Given the description of an element on the screen output the (x, y) to click on. 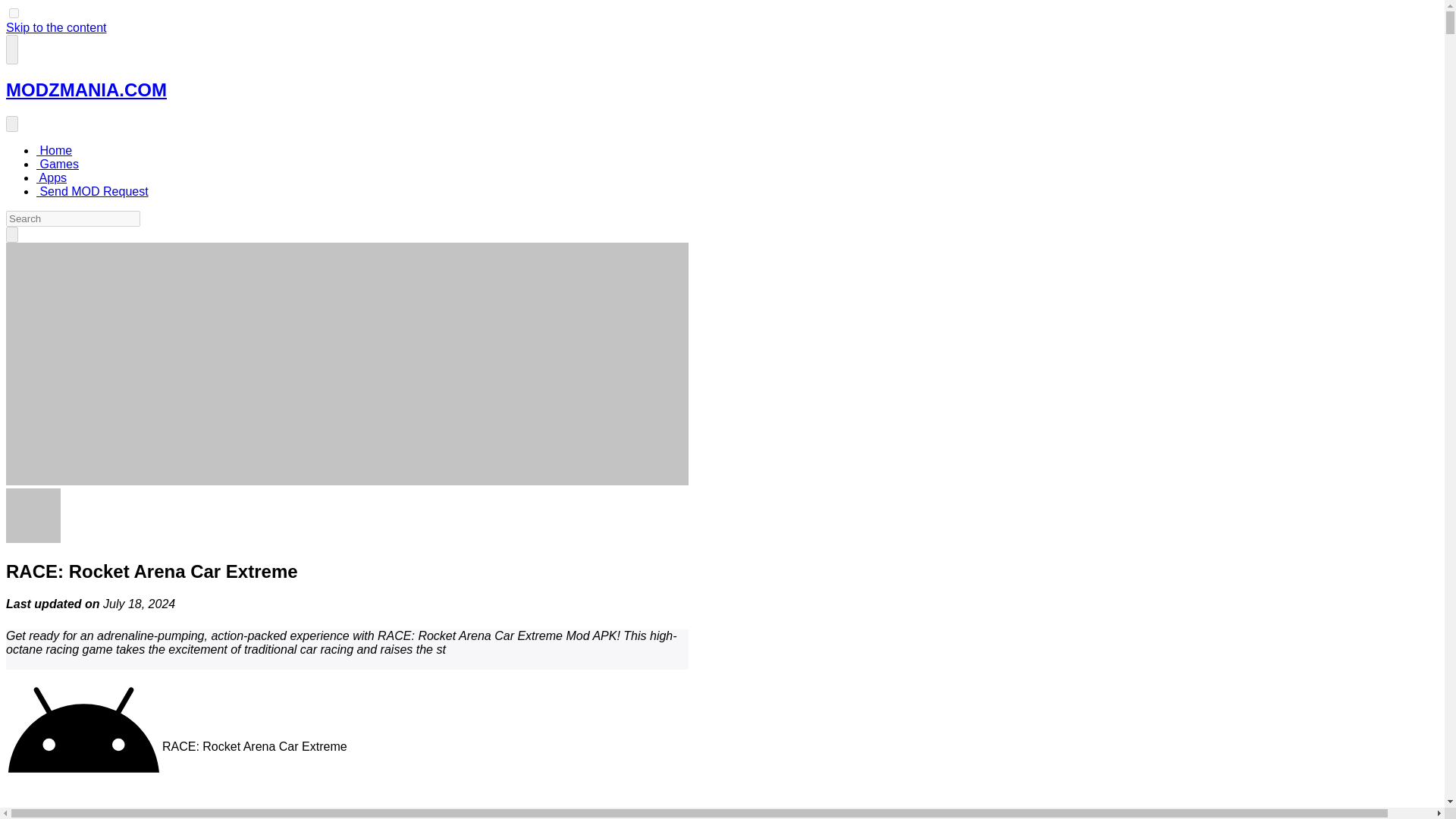
MODZMANIA.COM (86, 89)
 Apps (51, 177)
 Send MOD Request (92, 191)
 Games (57, 164)
on (13, 13)
Skip to the content (55, 27)
 Home (53, 150)
